Given the description of an element on the screen output the (x, y) to click on. 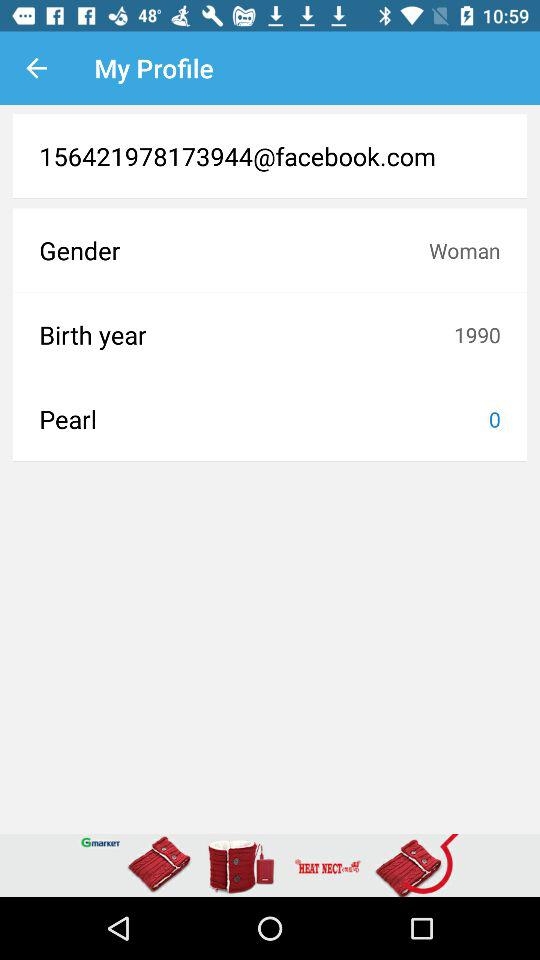
turn off the icon to the left of my profile icon (36, 68)
